Given the description of an element on the screen output the (x, y) to click on. 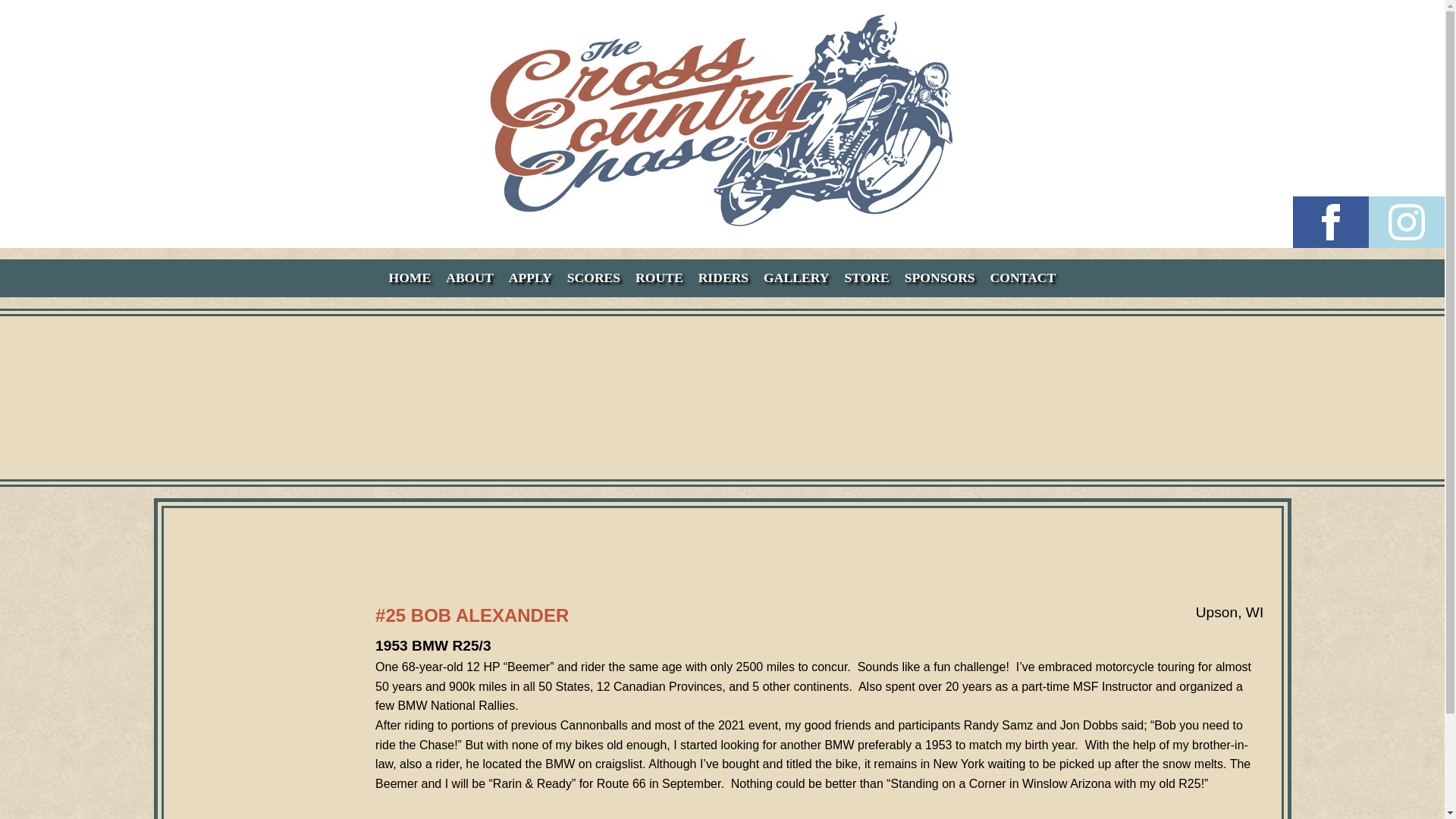
APPLY (529, 277)
SCORES (593, 277)
STORE (866, 277)
CONTACT (1023, 277)
ROUTE (658, 277)
GALLERY (795, 277)
RIDERS (723, 277)
ABOUT (469, 277)
SPONSORS (939, 277)
HOME (409, 277)
